Given the description of an element on the screen output the (x, y) to click on. 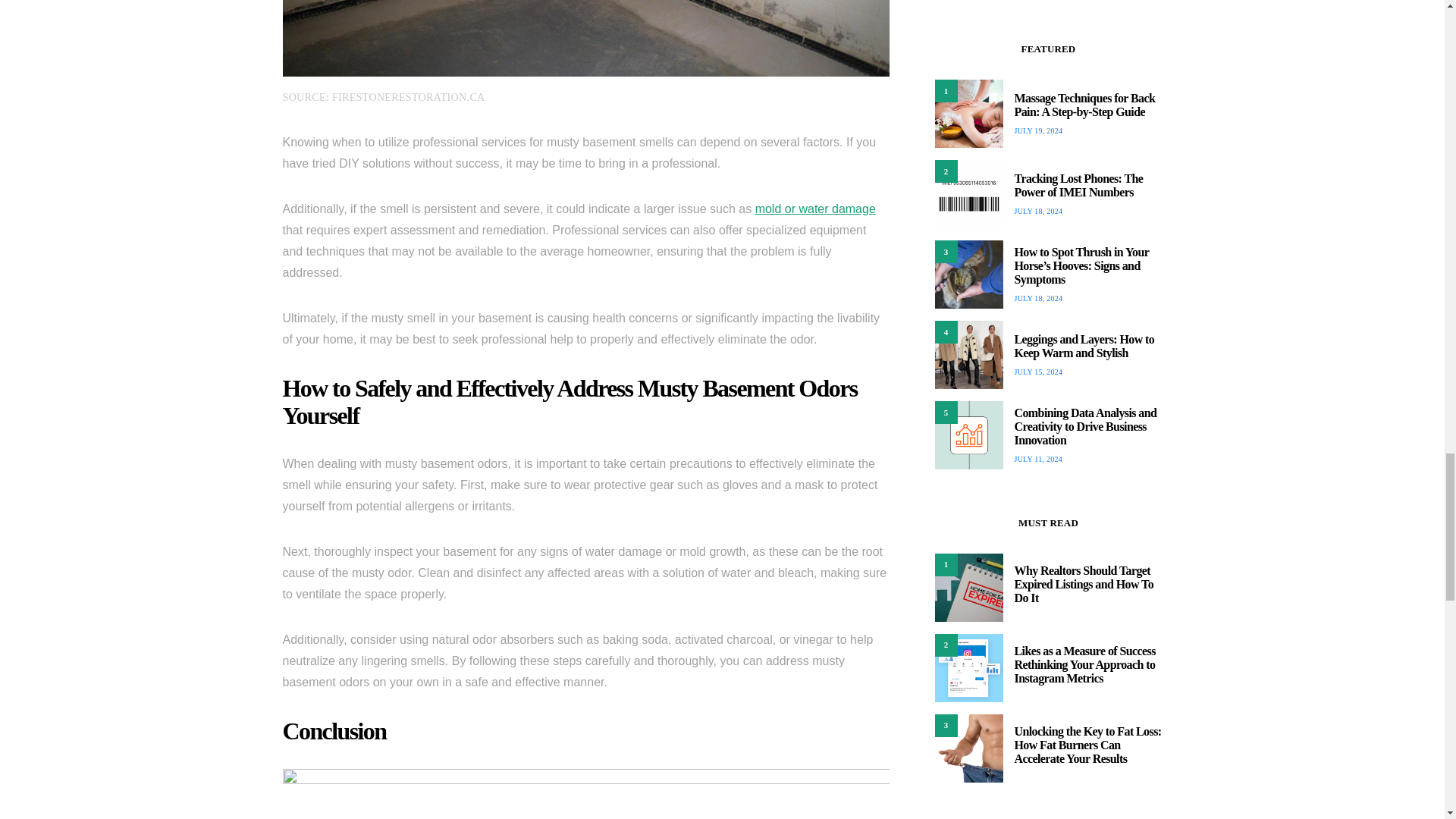
mold or water damage (815, 208)
